Given the description of an element on the screen output the (x, y) to click on. 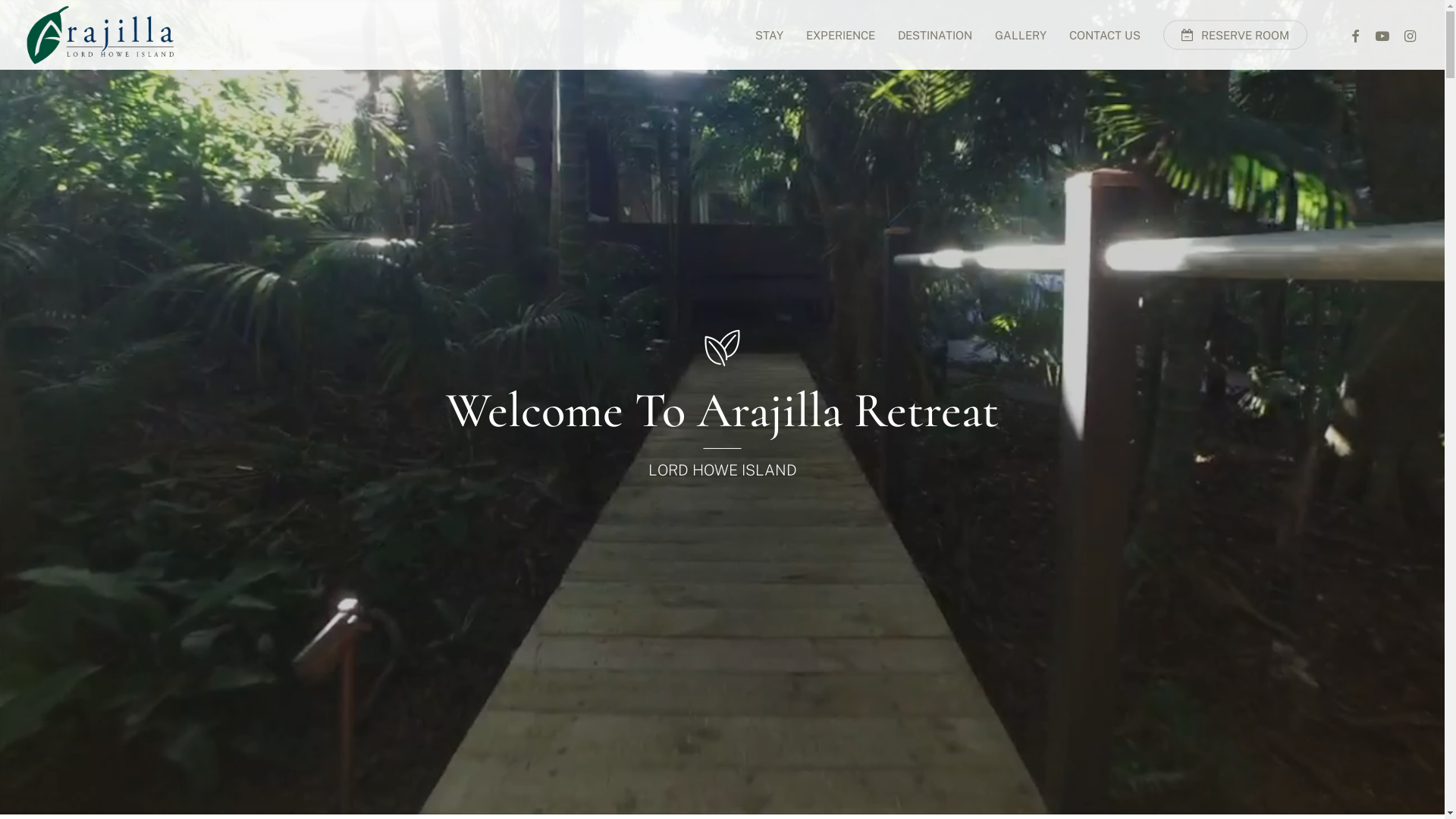
CONTACT US Element type: text (1104, 34)
FACEBOOK Element type: text (1354, 34)
RESERVE ROOM Element type: text (1235, 34)
GALLERY Element type: text (1020, 34)
YOUTUBE Element type: text (1382, 34)
DESTINATION Element type: text (934, 34)
STAY Element type: text (769, 34)
EXPERIENCE Element type: text (840, 34)
INSTAGRAM Element type: text (1409, 34)
